Given the description of an element on the screen output the (x, y) to click on. 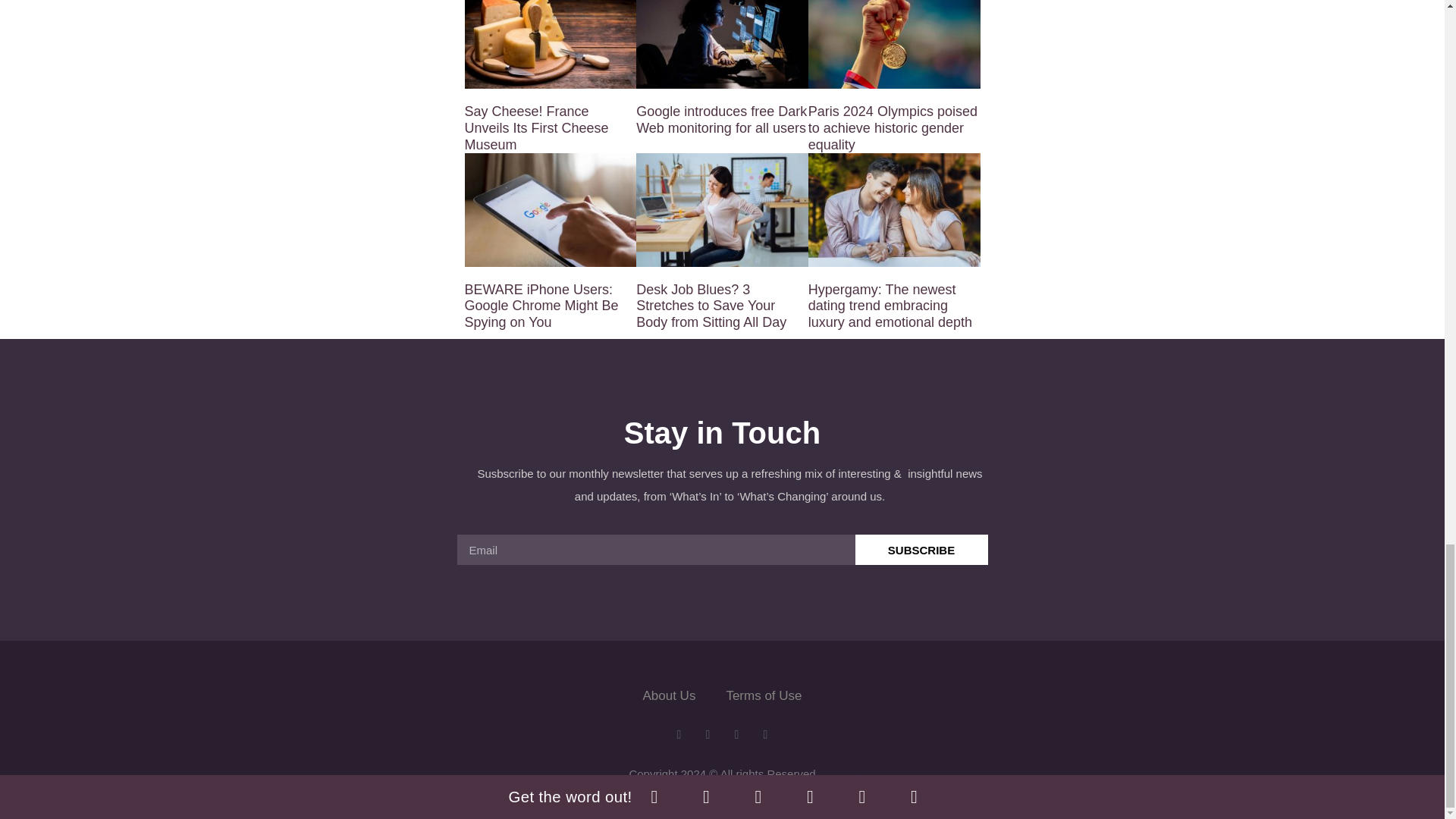
Say Cheese! France Unveils Its First Cheese Museum (536, 127)
SUBSCRIBE (922, 549)
About Us (668, 695)
Google introduces free Dark Web monitoring for all users (721, 119)
BEWARE iPhone Users: Google Chrome Might Be Spying on You (540, 305)
